Given the description of an element on the screen output the (x, y) to click on. 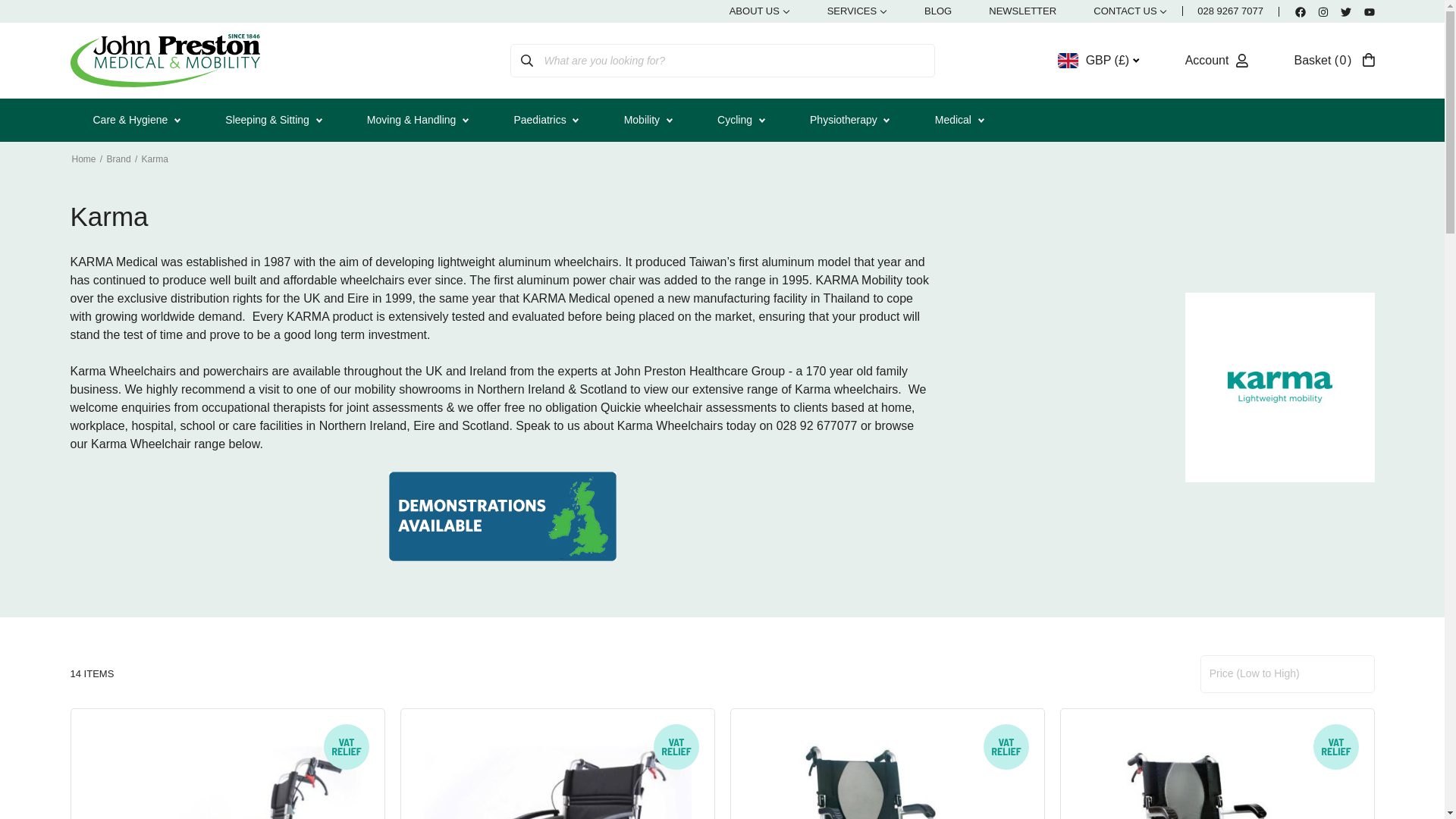
John Preston (164, 60)
NEWSLETTER (1021, 11)
Twitter (1345, 11)
Instagram (1322, 11)
BLOG (937, 11)
YouTube (1368, 11)
Account (1217, 60)
028 9267 7077 (1229, 10)
SERVICES (856, 11)
Facebook (1334, 60)
Account (1300, 11)
CONTACT US (1217, 60)
ABOUT US (1129, 11)
